Given the description of an element on the screen output the (x, y) to click on. 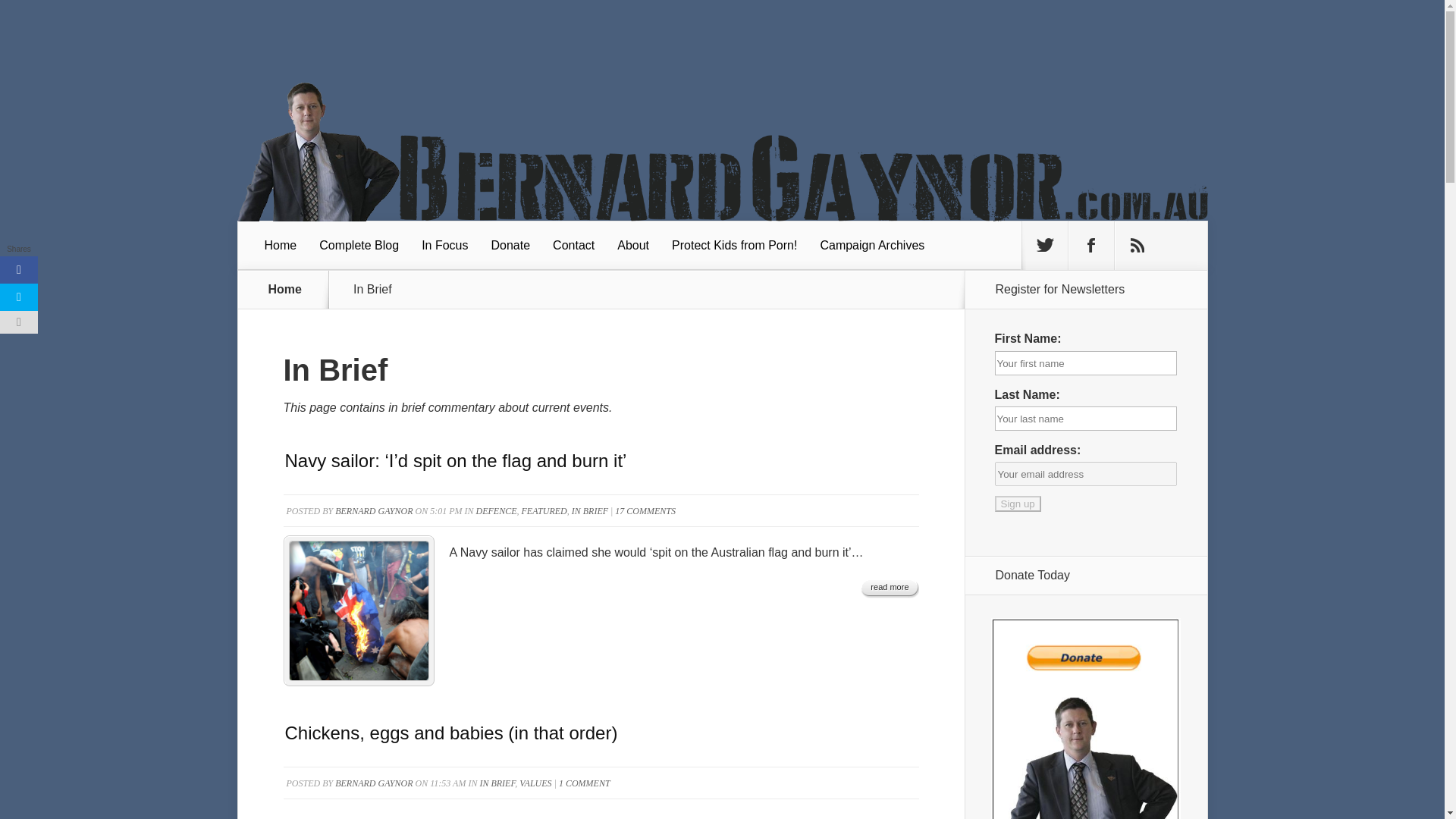
VALUES (535, 783)
Sign up (1017, 503)
Follow us on Facebook (1090, 245)
Protect Kids from Porn! (734, 245)
DEFENCE (496, 511)
Contact (573, 245)
Complete Blog (358, 245)
Follow us on Twitter (1044, 245)
BERNARD GAYNOR (373, 511)
Posts by Bernard Gaynor (373, 511)
